Given the description of an element on the screen output the (x, y) to click on. 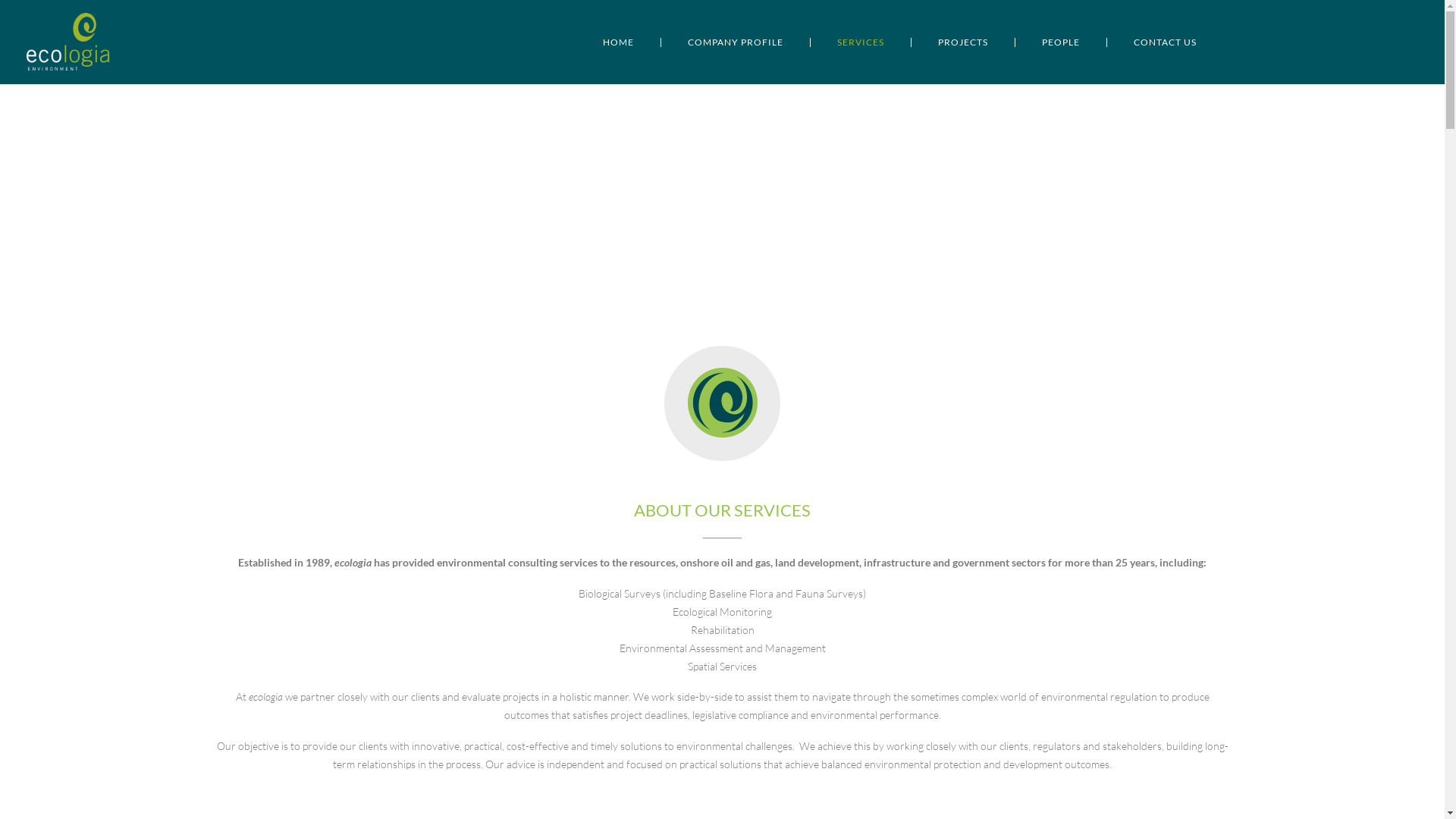
PEOPLE Element type: text (1060, 42)
Ecologia Element type: hover (90, 41)
PROJECTS Element type: text (963, 42)
COMPANY PROFILE Element type: text (735, 42)
CONTACT US Element type: text (1151, 42)
SERVICES Element type: text (859, 42)
HOME Element type: text (631, 42)
ABOUT OUR COMPANY Element type: hover (722, 403)
